Given the description of an element on the screen output the (x, y) to click on. 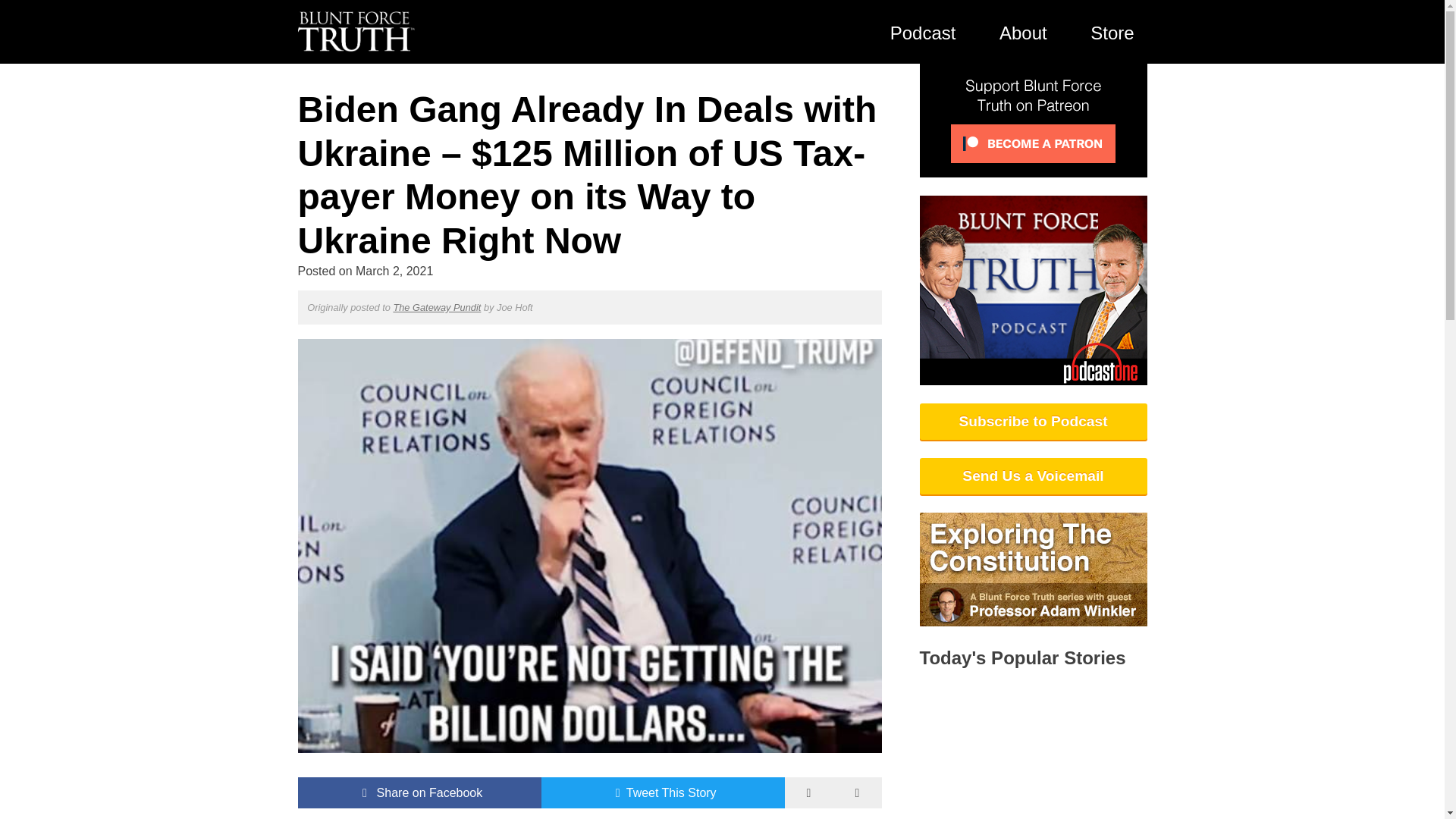
Send Us a Voicemail (1032, 475)
Tweet This Story (662, 793)
Podcast (922, 31)
Share on Facebook (418, 793)
About (1023, 31)
The Gateway Pundit (436, 307)
Subscribe to Podcast (1032, 421)
Store (1112, 31)
